Given the description of an element on the screen output the (x, y) to click on. 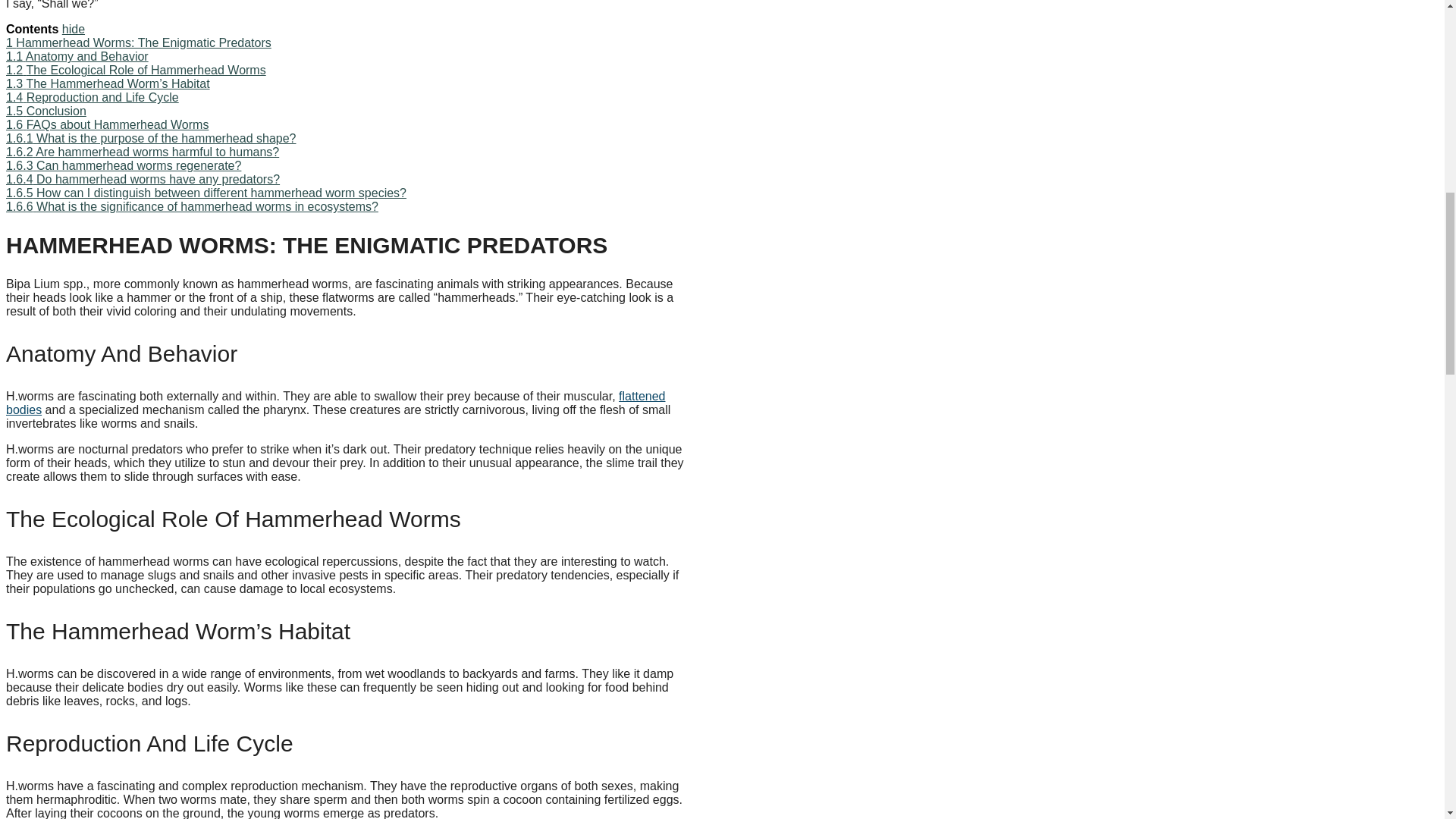
1.6 FAQs about Hammerhead Worms (106, 124)
1 Hammerhead Worms: The Enigmatic Predators (137, 42)
1.5 Conclusion (45, 110)
1.6.3 Can hammerhead worms regenerate? (123, 164)
flattened bodies (335, 402)
Scroll back to top (1406, 720)
1.6.2 Are hammerhead worms harmful to humans? (142, 151)
hide (73, 29)
